Given the description of an element on the screen output the (x, y) to click on. 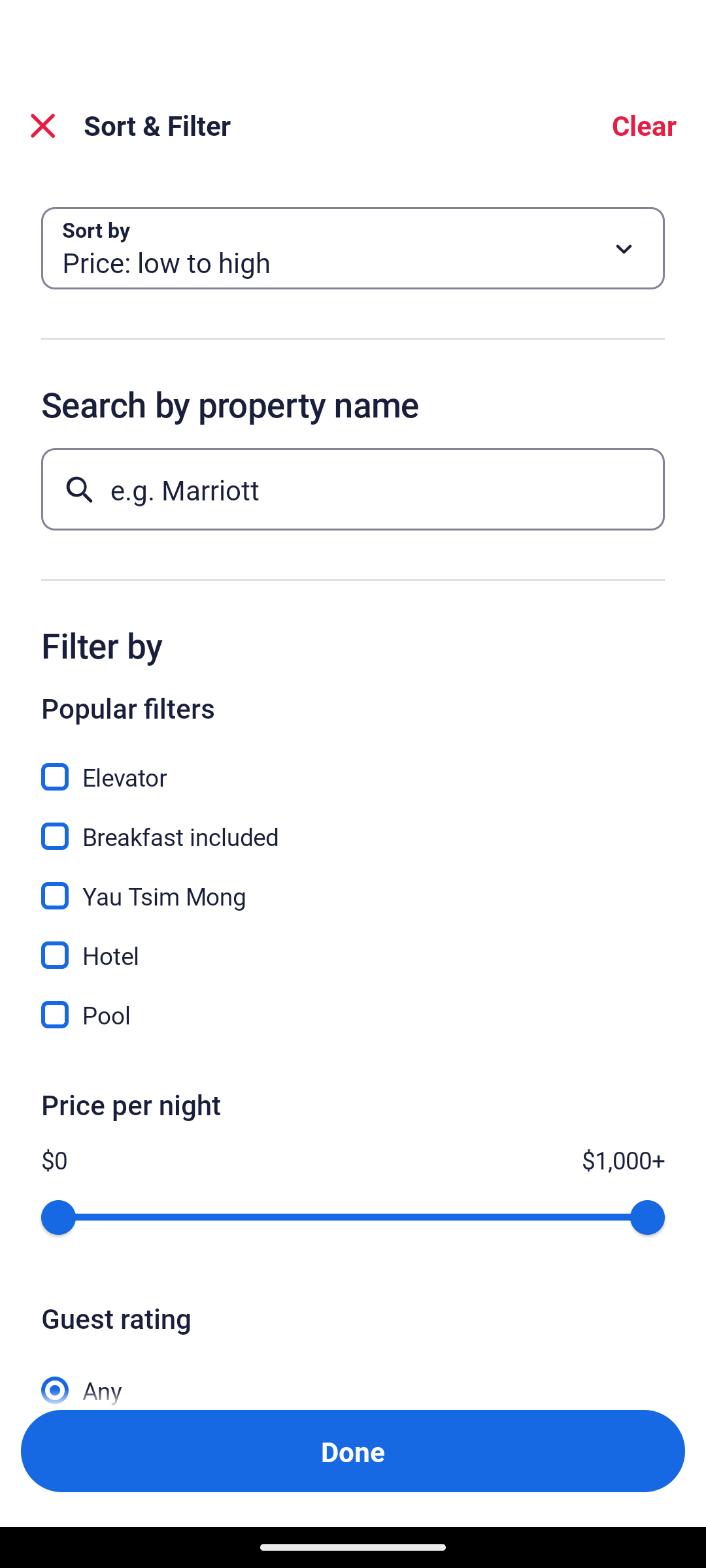
Clear (643, 125)
Close Sort and Filter (43, 125)
Sort by Button Price: low to high (352, 248)
e.g. Marriott Button (352, 488)
Elevator, Elevator (352, 765)
Breakfast included, Breakfast included (352, 824)
Yau Tsim Mong, Yau Tsim Mong (352, 884)
Hotel, Hotel (352, 943)
Pool, Pool (352, 1014)
Apply and close Sort and Filter Done (352, 1450)
